Given the description of an element on the screen output the (x, y) to click on. 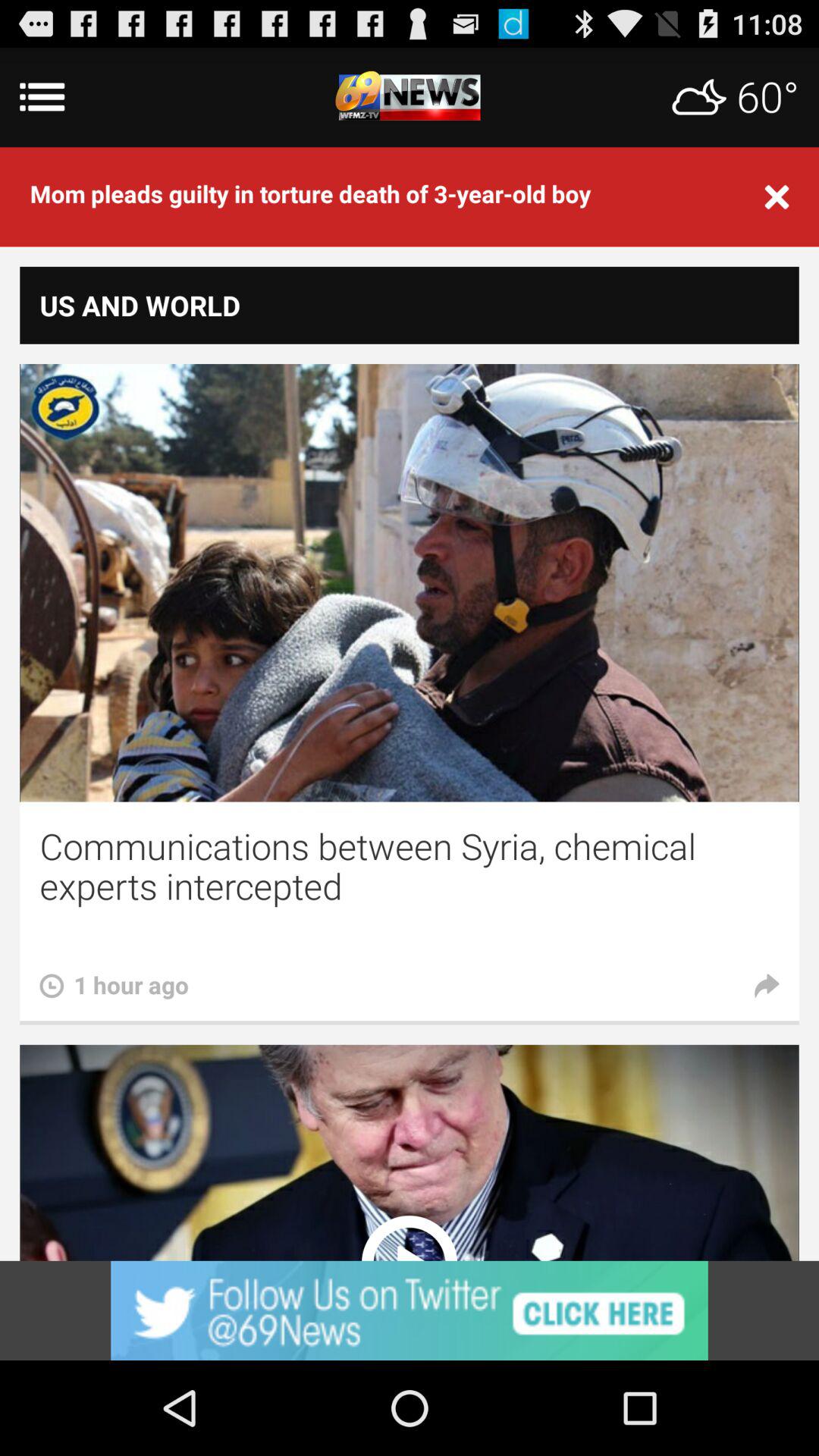
select the advertisement (409, 1310)
